Given the description of an element on the screen output the (x, y) to click on. 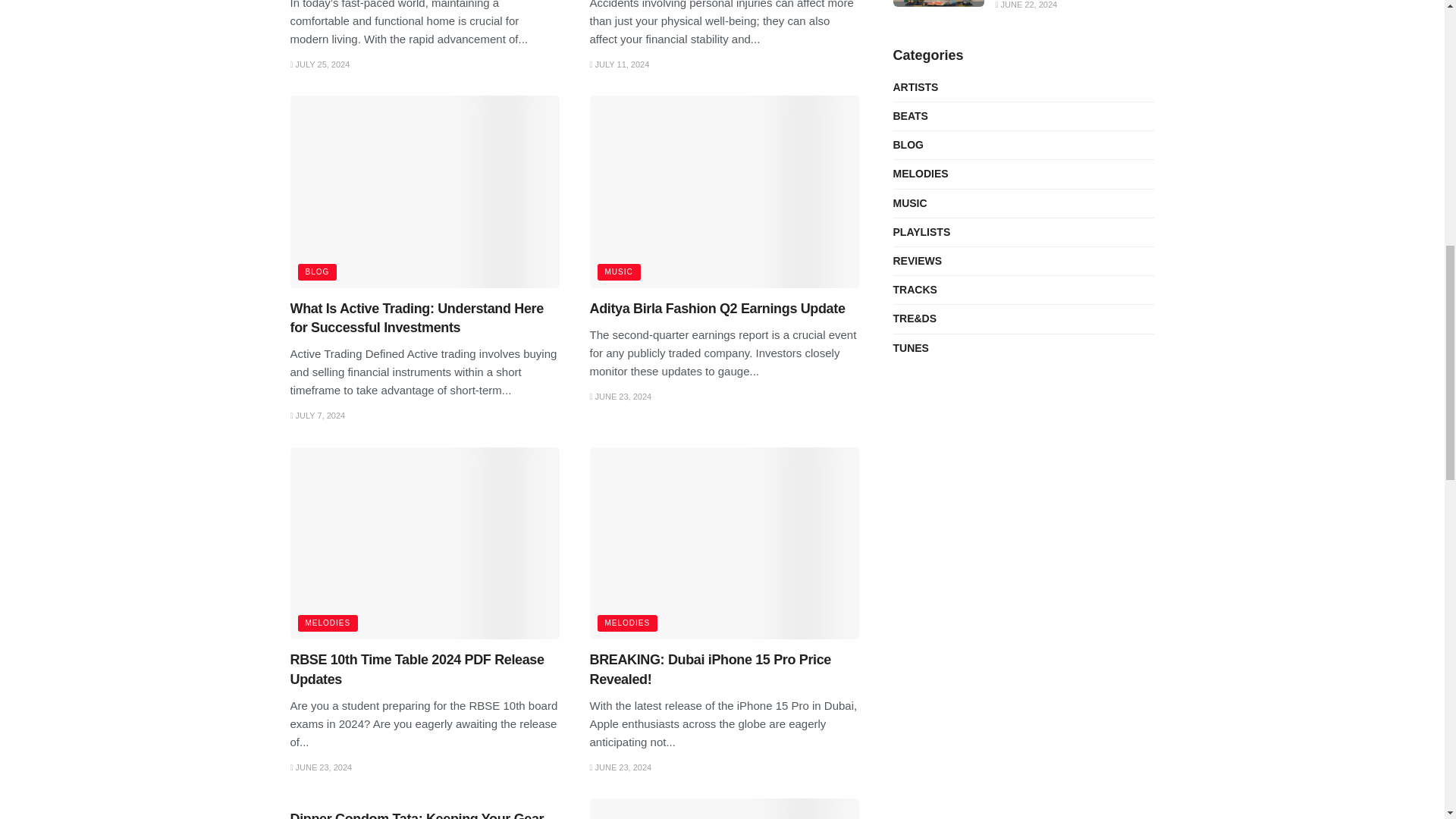
JULY 25, 2024 (319, 63)
BLOG (316, 271)
JULY 11, 2024 (619, 63)
